Given the description of an element on the screen output the (x, y) to click on. 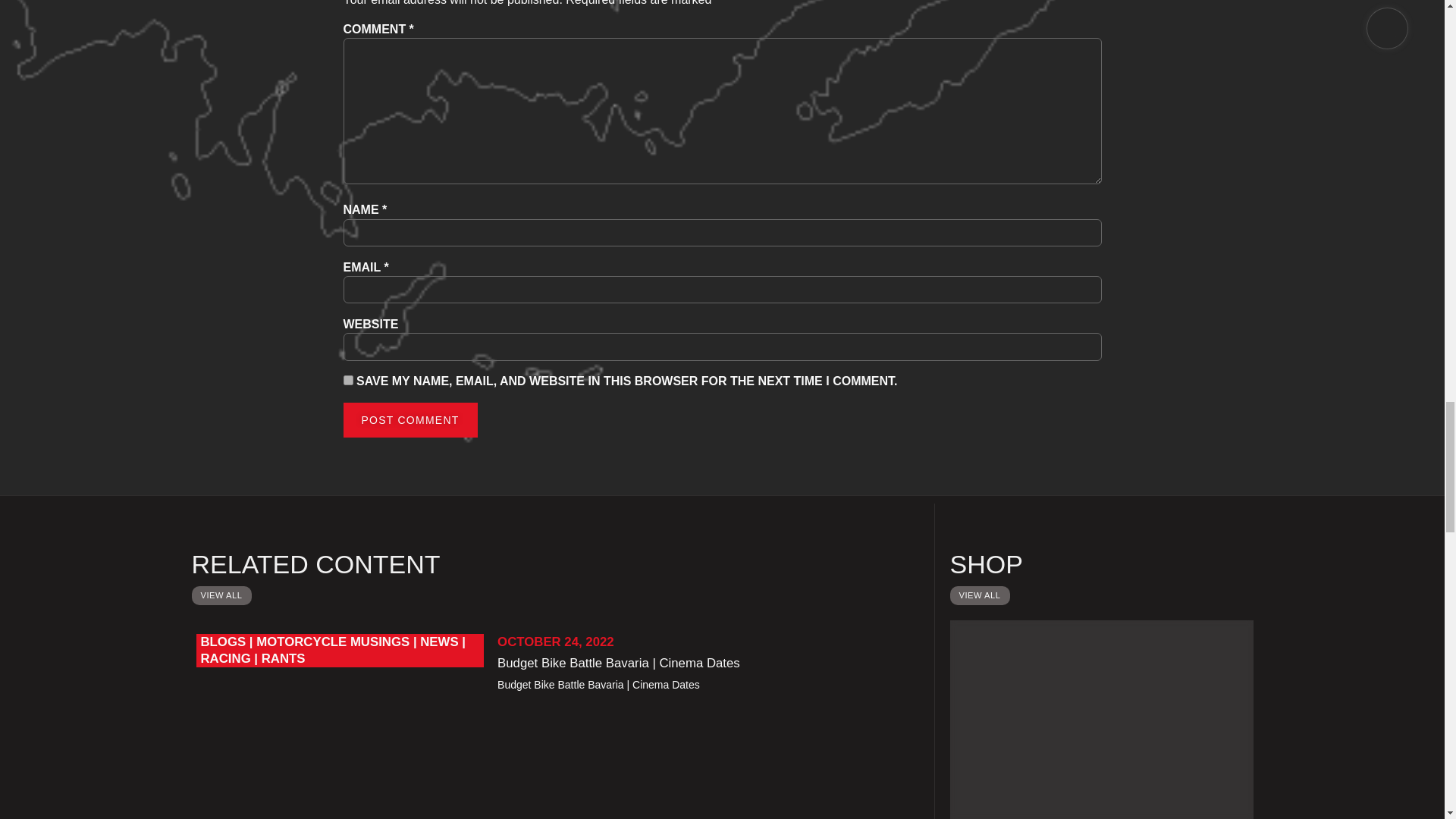
Post Comment (409, 419)
VIEW ALL (220, 595)
EVENTS (1100, 719)
VIEW ALL (979, 595)
Post Comment (409, 419)
yes (347, 379)
